Given the description of an element on the screen output the (x, y) to click on. 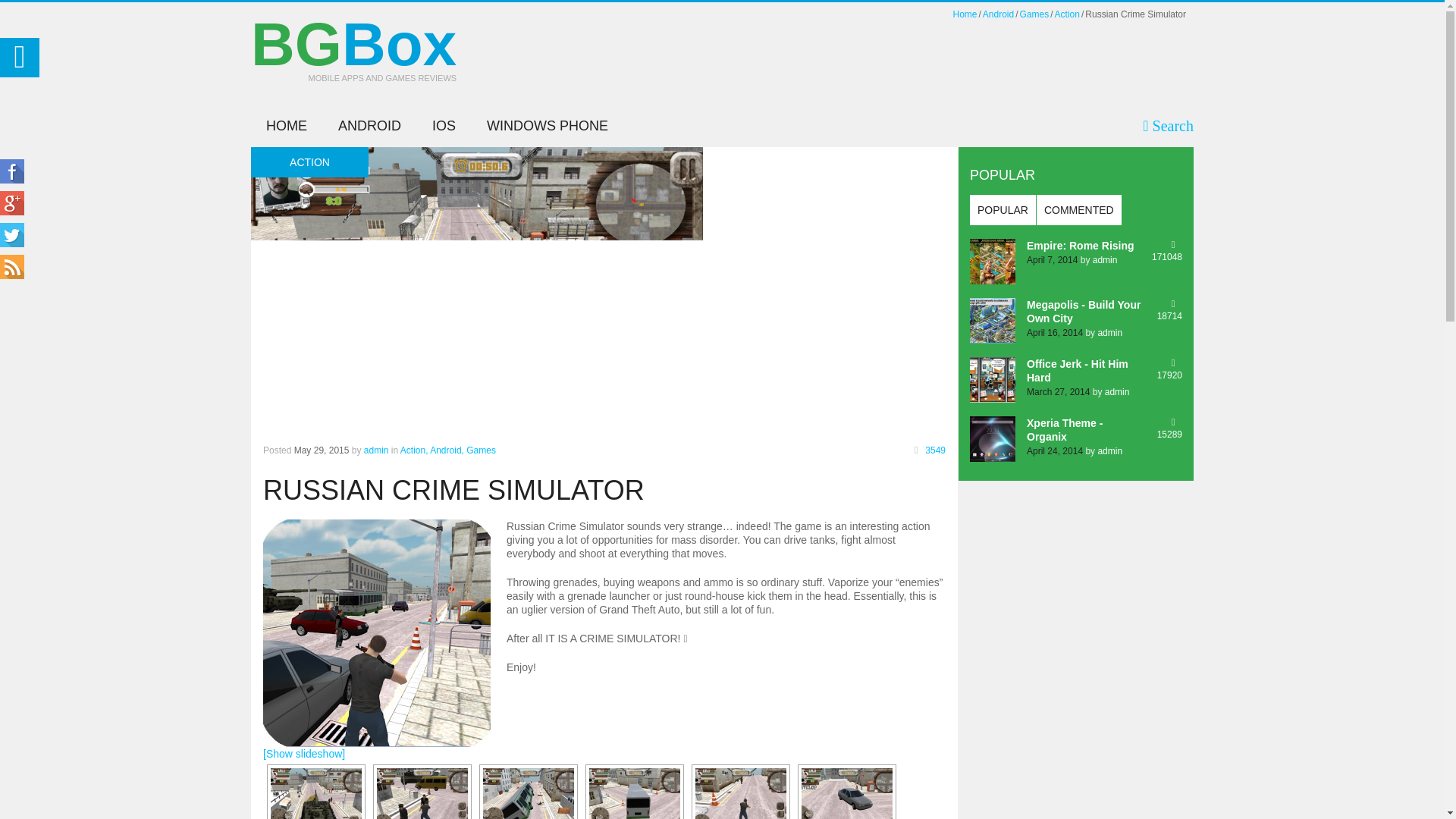
HOME (285, 125)
Android (997, 14)
Russian Crime Simulator (740, 793)
Russian Crime Simulator (847, 793)
Russian Crime Simulator (422, 793)
ANDROID (353, 61)
Russian Crime Simulator (369, 125)
Russian Crime Simulator (528, 793)
Home (315, 793)
